Given the description of an element on the screen output the (x, y) to click on. 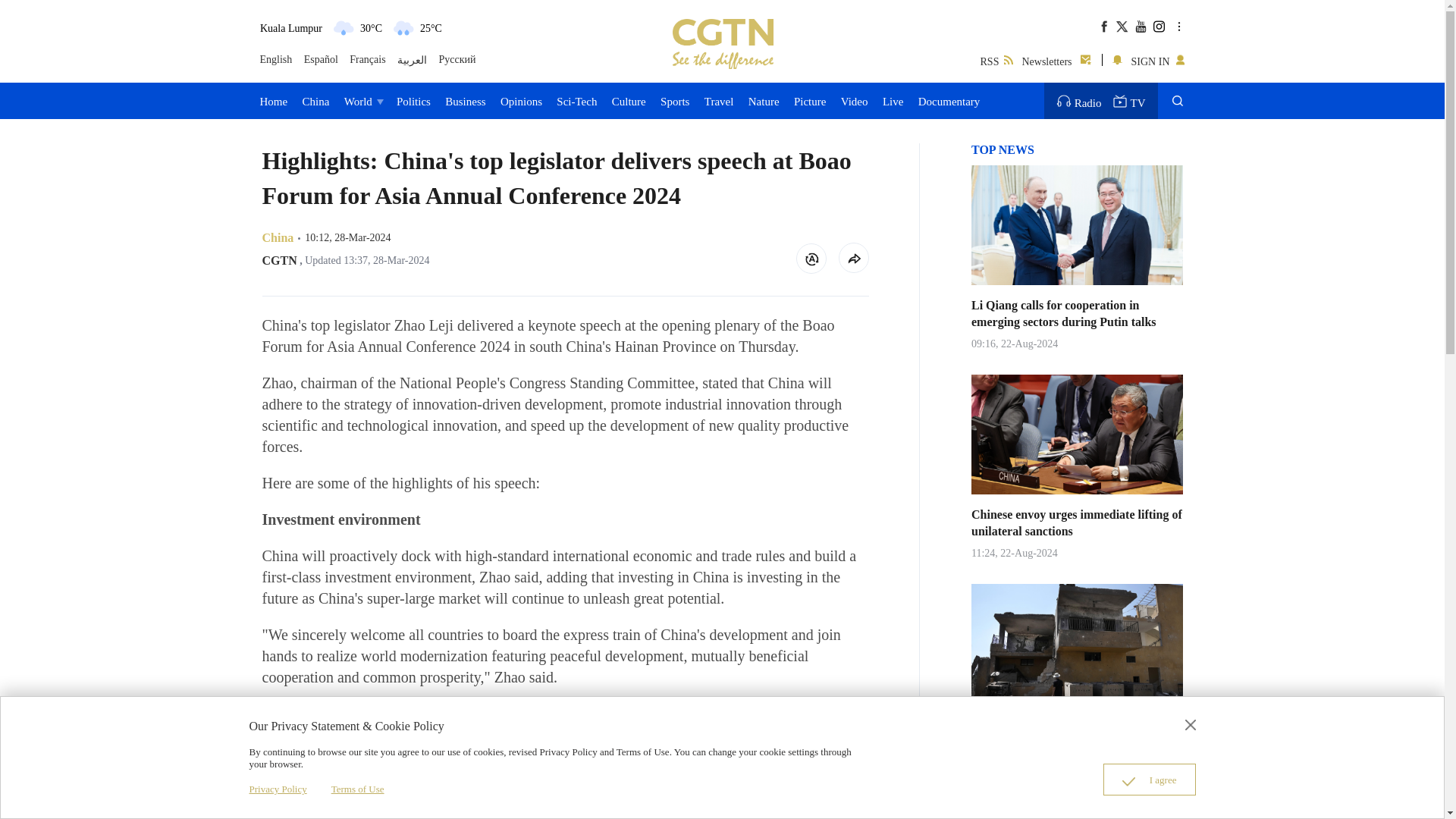
Sci-Tech (576, 100)
RSS (995, 59)
World (362, 100)
Culture (628, 100)
Politics (413, 100)
Newsletters (1057, 59)
Moderate rain (402, 27)
Picture (810, 100)
Business (464, 100)
Opinions (520, 100)
